Given the description of an element on the screen output the (x, y) to click on. 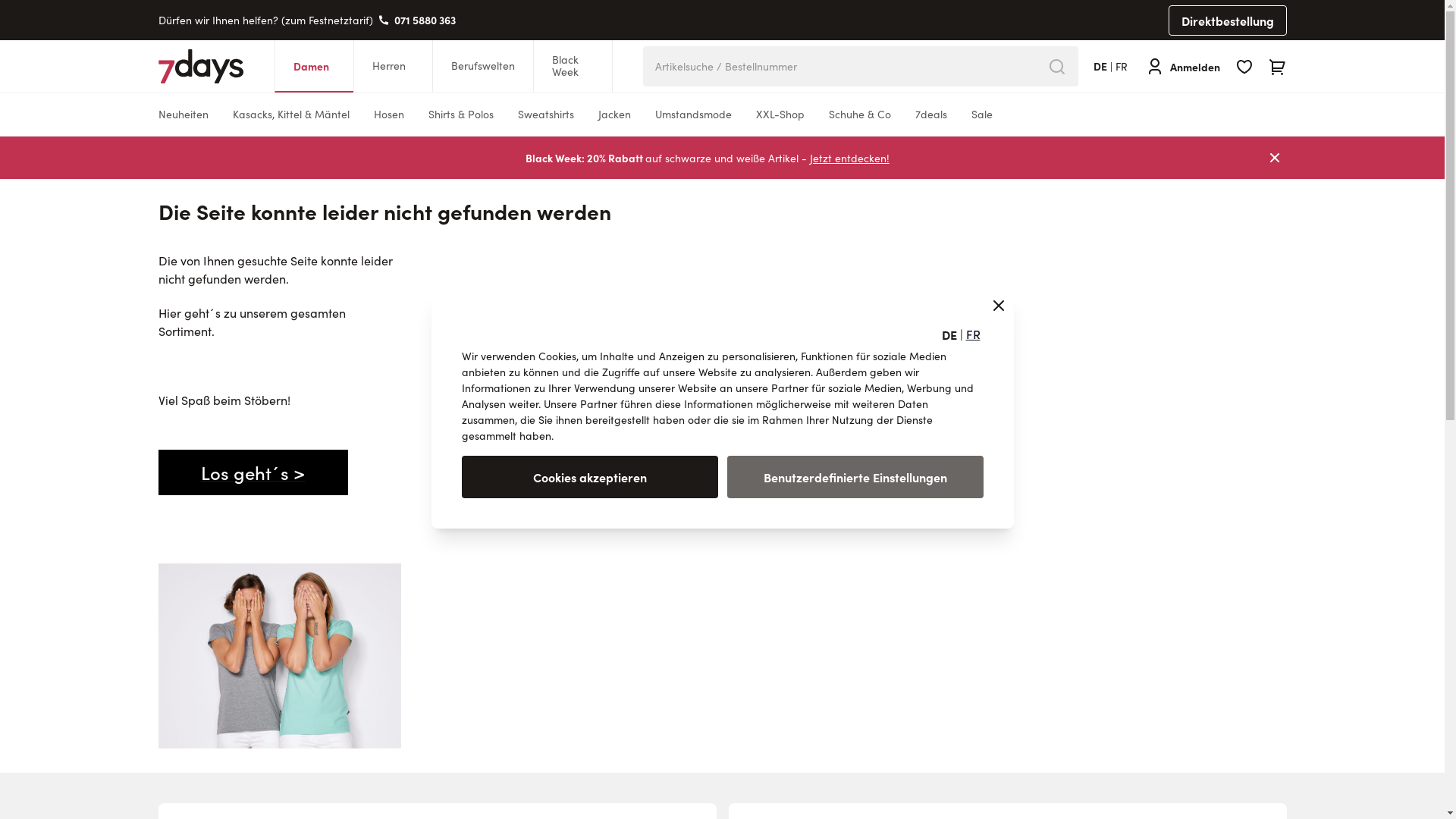
Damen Element type: text (313, 66)
Sweatshirts Element type: text (545, 114)
Herren Element type: text (392, 66)
Mein Wunschzettel Element type: hover (1243, 66)
XXL-Shop Element type: text (779, 114)
7days Berufsbekleidung Element type: hover (200, 66)
Jacken Element type: text (613, 114)
Benutzerdefinierte Einstellungen Element type: text (854, 476)
Berufswelten Element type: text (482, 66)
Close permanently Element type: hover (1273, 157)
FR Element type: text (973, 334)
071 5880 363 Element type: text (424, 20)
Suche Element type: hover (1056, 66)
Neuheiten Element type: text (182, 114)
Anmelden Element type: text (1182, 66)
7deals Element type: text (930, 114)
Direktbestellung Element type: text (1226, 19)
Cookies akzeptieren Element type: text (589, 476)
Jetzt entdecken! Element type: text (849, 157)
FR Element type: text (1120, 66)
Black Week Element type: text (572, 66)
Shirts & Polos Element type: text (460, 114)
Schuhe & Co Element type: text (858, 114)
Hosen Element type: text (387, 114)
Umstandsmode Element type: text (693, 114)
Sale Element type: text (981, 114)
Warenkorb Element type: text (1276, 66)
